Given the description of an element on the screen output the (x, y) to click on. 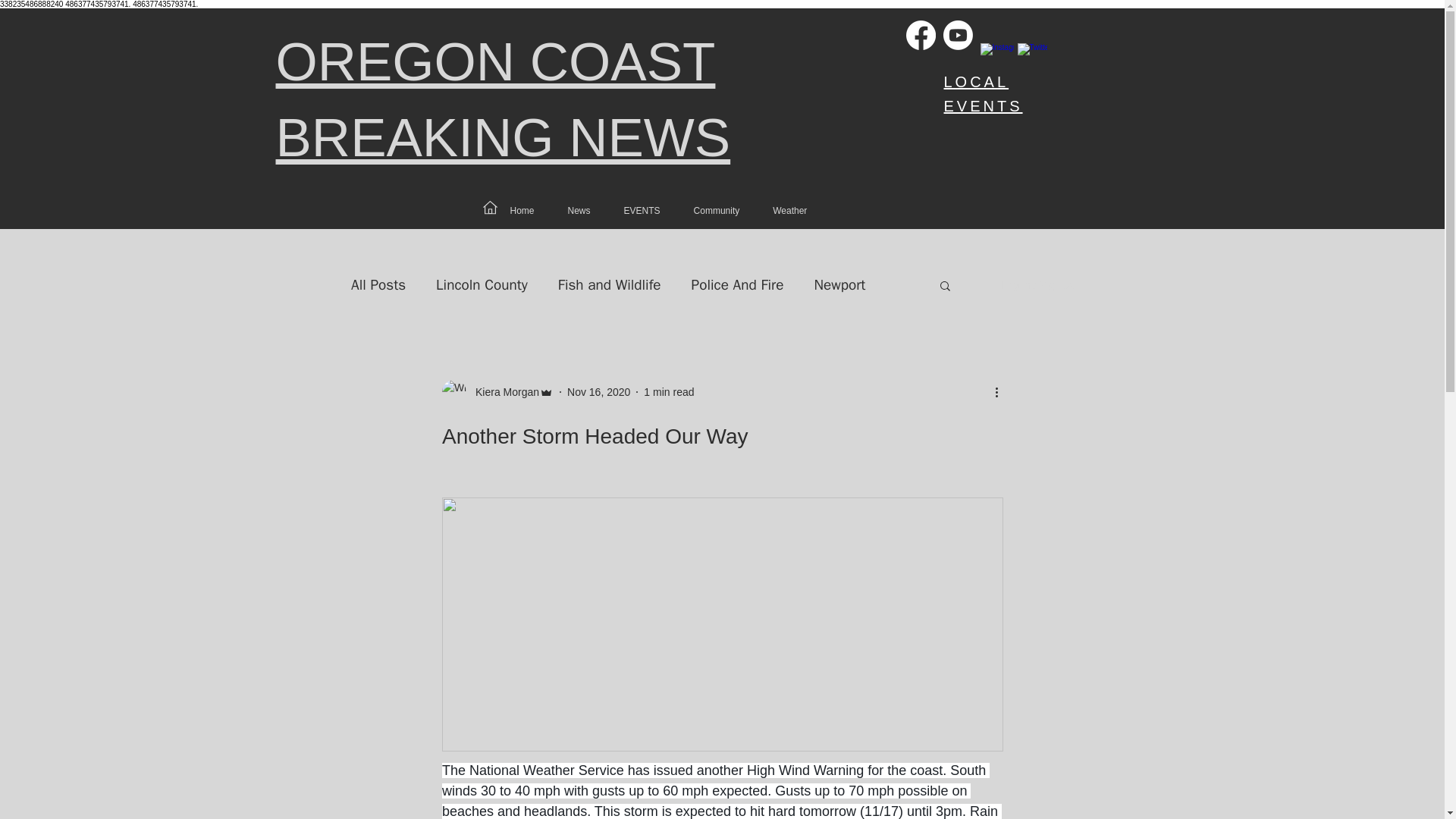
Weather (789, 210)
Nov 16, 2020 (598, 391)
Kiera Morgan (501, 392)
Community (716, 210)
LOCAL EVENTS (982, 93)
News (579, 210)
Lincoln County (481, 284)
1 min read (668, 391)
OREGON COAST BREAKING NEWS (503, 99)
EVENTS (642, 210)
